Given the description of an element on the screen output the (x, y) to click on. 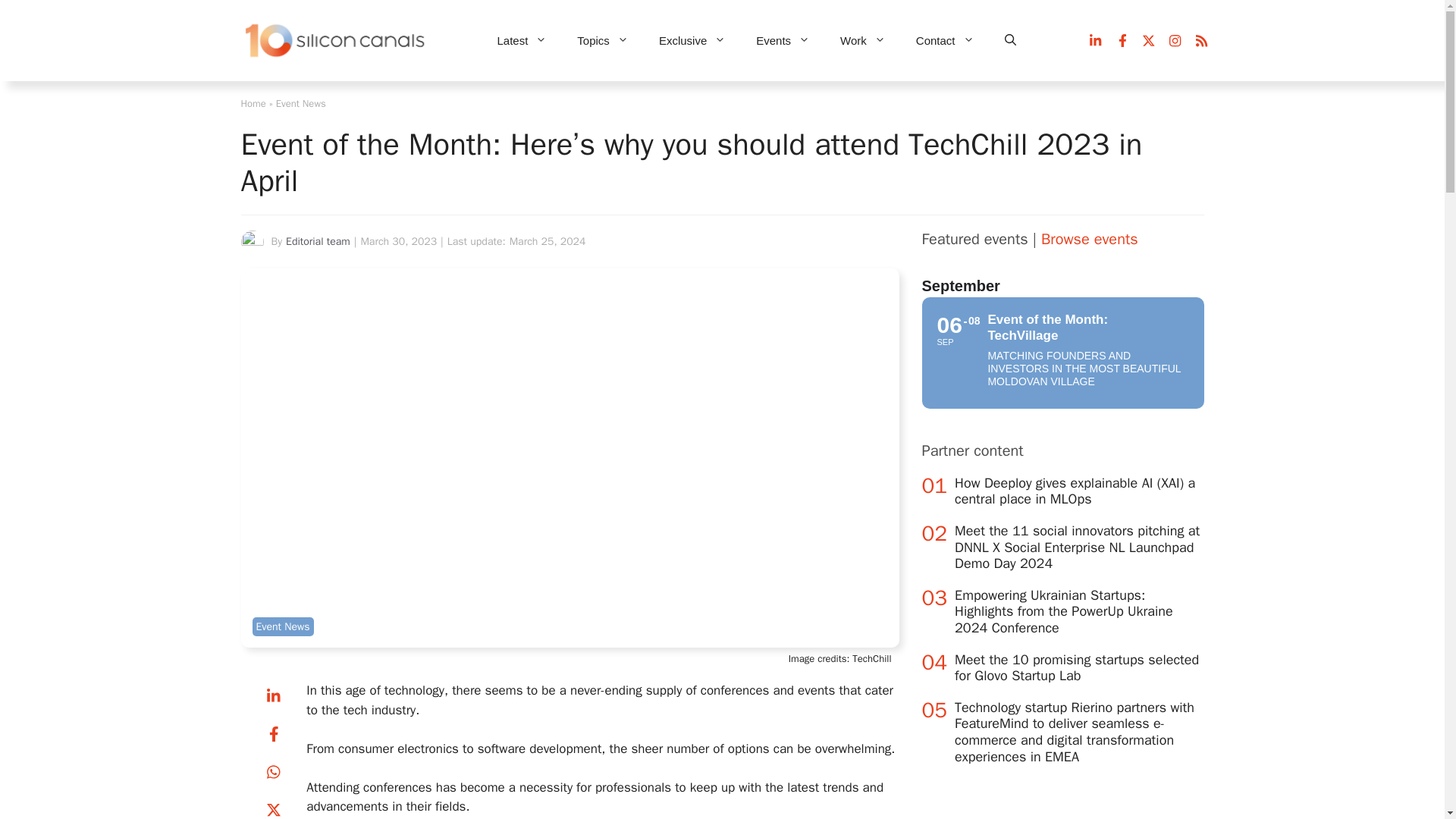
Topics (602, 40)
Events (783, 40)
Exclusive (692, 40)
Work (863, 40)
SC 10 year horizontal (335, 40)
Latest (521, 40)
